Given the description of an element on the screen output the (x, y) to click on. 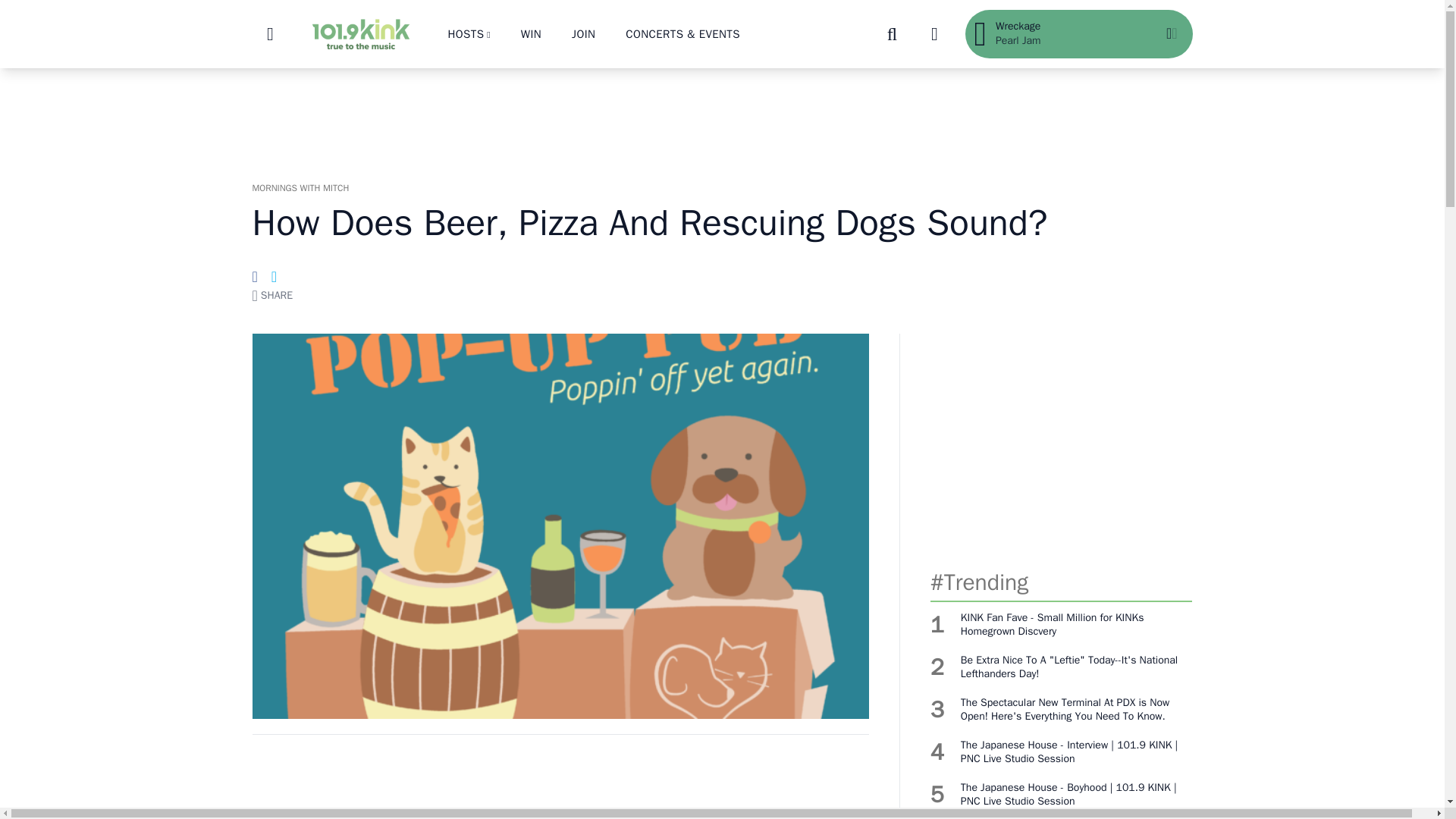
101.9 KINK (359, 33)
3rd party ad content (721, 117)
3rd party ad content (1060, 443)
